Given the description of an element on the screen output the (x, y) to click on. 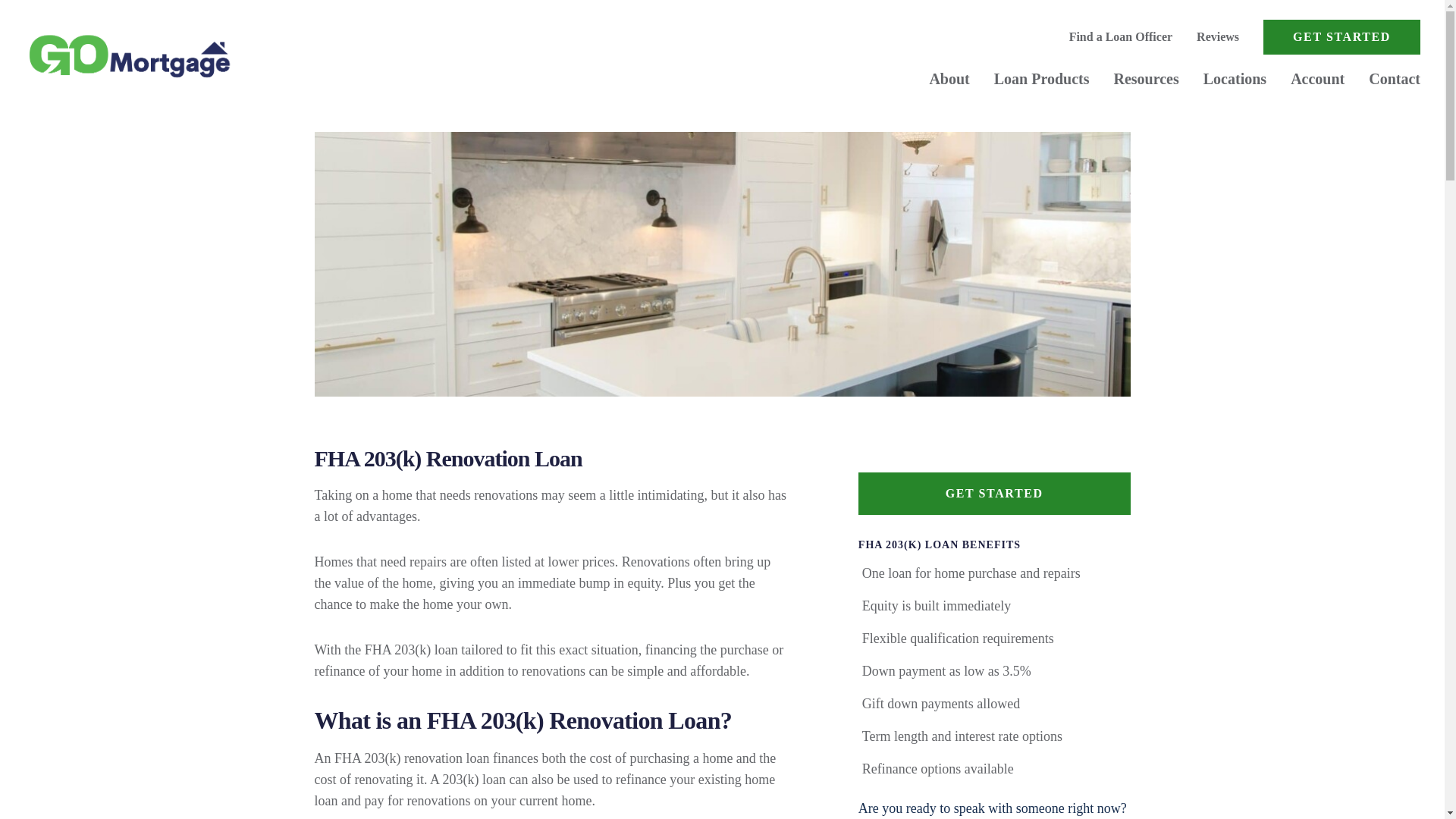
Find a Loan Officer (1120, 36)
Reviews (1217, 36)
GET STARTED (1342, 36)
About (948, 78)
Loan Products (1041, 78)
Locations (1235, 78)
Resources (1145, 78)
